Given the description of an element on the screen output the (x, y) to click on. 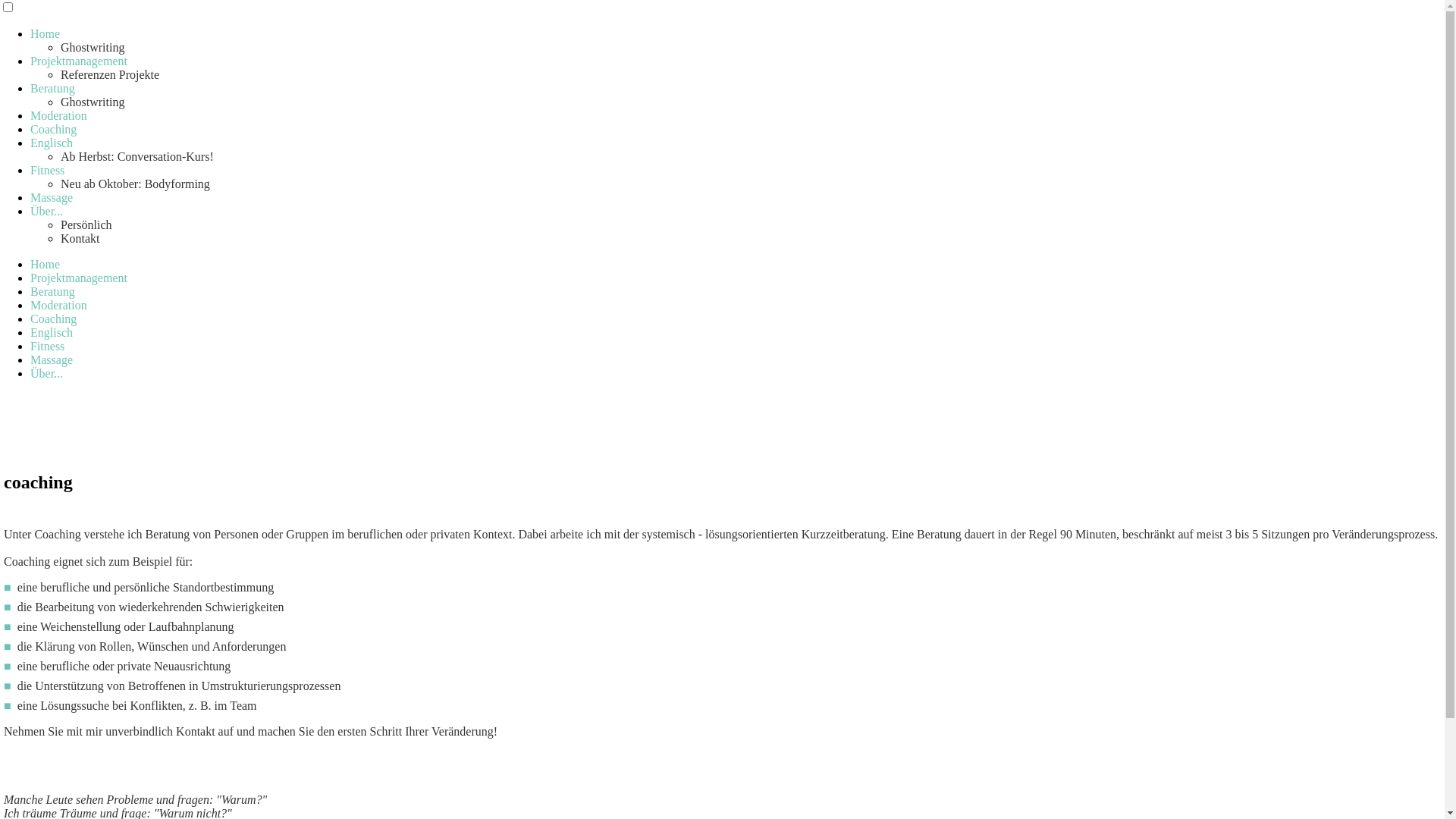
Moderation Element type: text (58, 304)
Home Element type: text (44, 263)
Massage Element type: text (51, 197)
Projektmanagement Element type: text (78, 277)
Fitness Element type: text (47, 345)
Ab Herbst: Conversation-Kurs! Element type: text (136, 156)
Englisch Element type: text (51, 332)
Massage Element type: text (51, 359)
Coaching Element type: text (53, 128)
Home Element type: text (44, 33)
Englisch Element type: text (51, 142)
Beratung Element type: text (52, 87)
Referenzen Projekte Element type: text (109, 74)
Ghostwriting Element type: text (92, 101)
Kontakt Element type: text (80, 238)
Neu ab Oktober: Bodyforming Element type: text (135, 183)
Projektmanagement Element type: text (78, 60)
Moderation Element type: text (58, 115)
Fitness Element type: text (47, 169)
Coaching Element type: text (53, 318)
Beratung Element type: text (52, 291)
Ghostwriting Element type: text (92, 46)
